Given the description of an element on the screen output the (x, y) to click on. 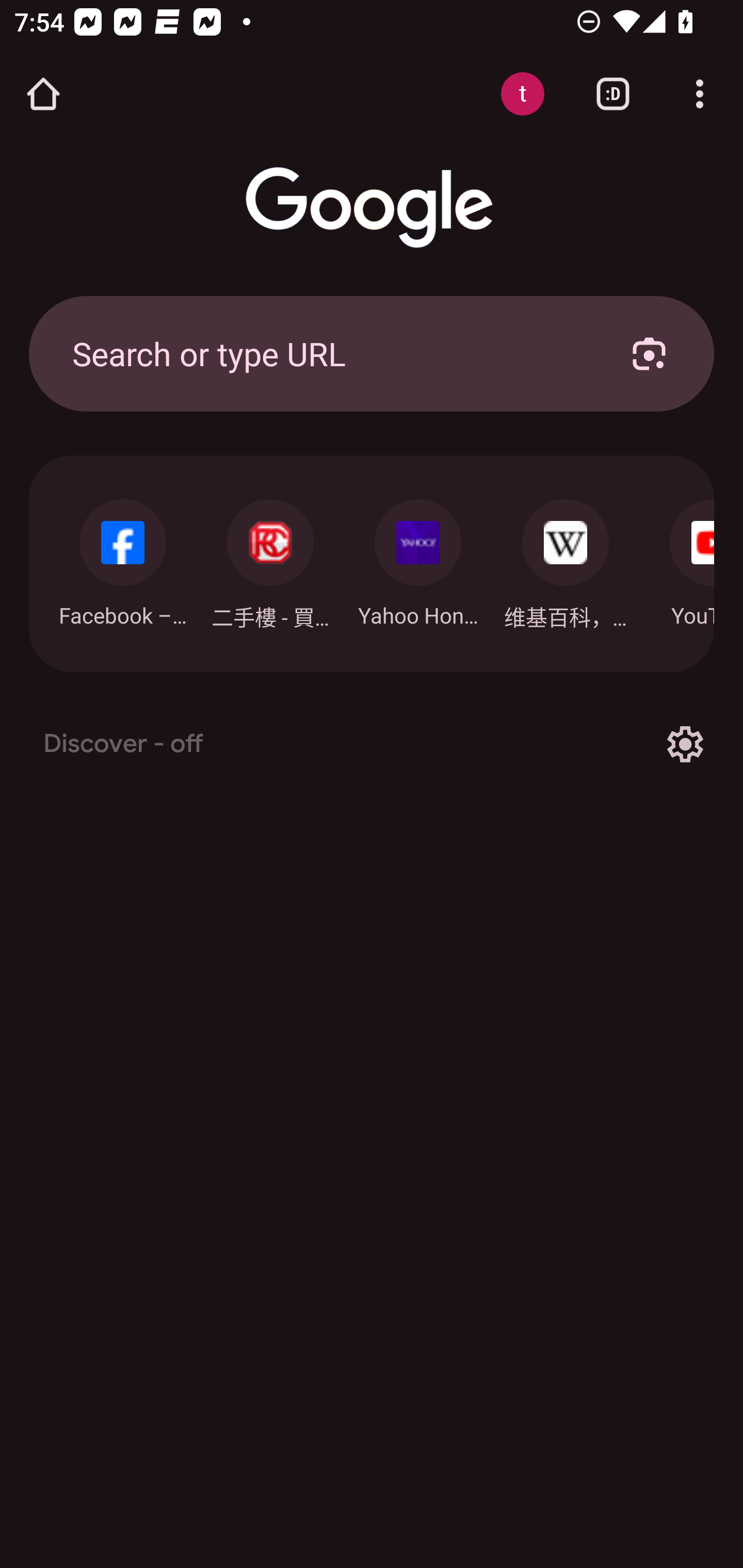
Open the home page (43, 93)
Switch or close tabs (612, 93)
Customize and control Google Chrome (699, 93)
Search or type URL (327, 353)
Search with your camera using Google Lens (648, 353)
Options for Discover (684, 743)
